Given the description of an element on the screen output the (x, y) to click on. 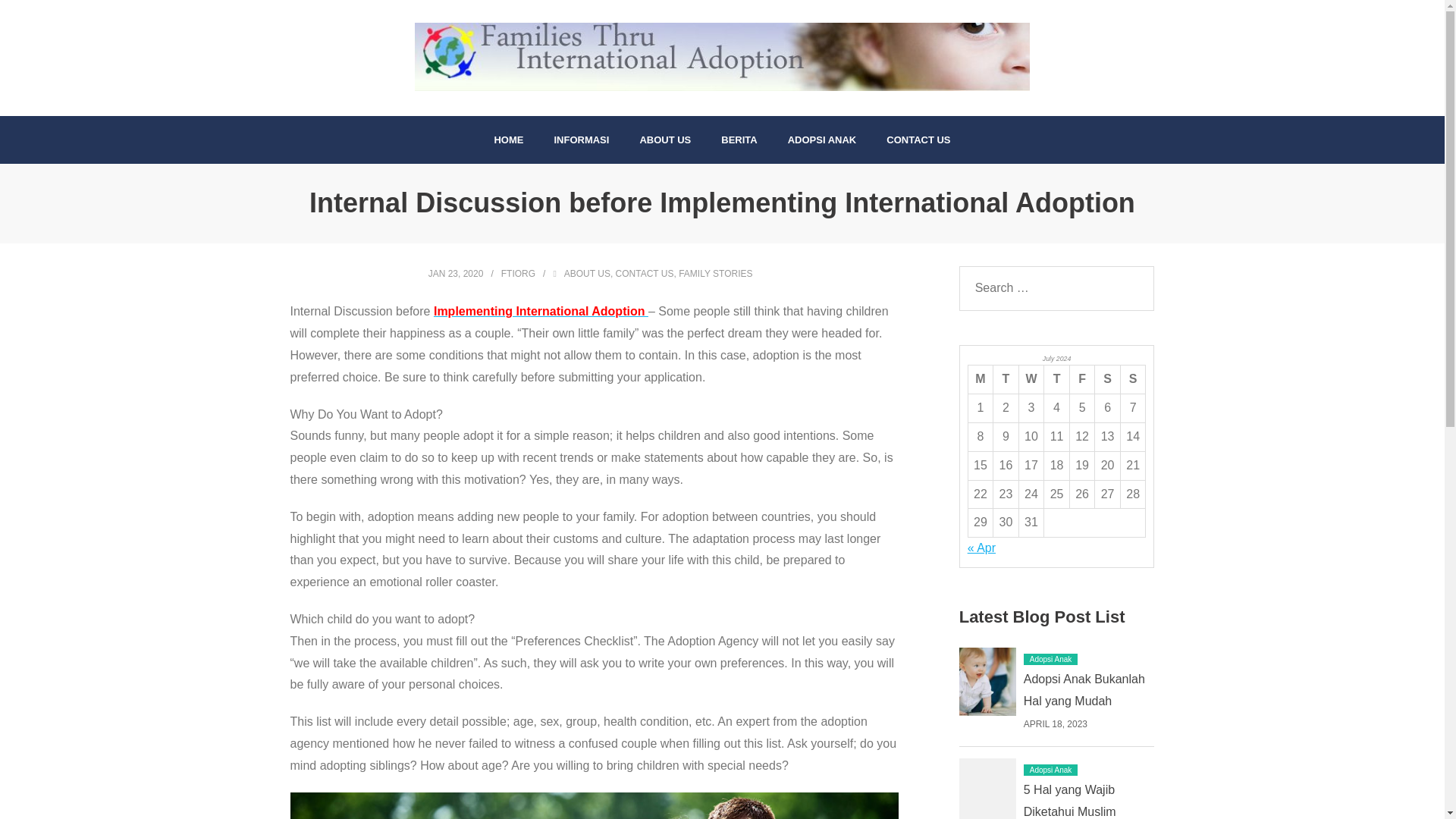
JAN 23, 2020 (455, 273)
CONTACT US (917, 139)
Adopsi Anak (1050, 769)
Wednesday (1030, 379)
ABOUT US (665, 139)
Sunday (1132, 379)
Monday (980, 379)
Friday (1081, 379)
ADOPSI ANAK (822, 139)
FAMILY STORIES (715, 273)
ABOUT US (587, 273)
Adopsi Anak Bukanlah Hal yang Mudah (1083, 689)
Implementing International Adoption (540, 310)
FTIORG (517, 273)
